Given the description of an element on the screen output the (x, y) to click on. 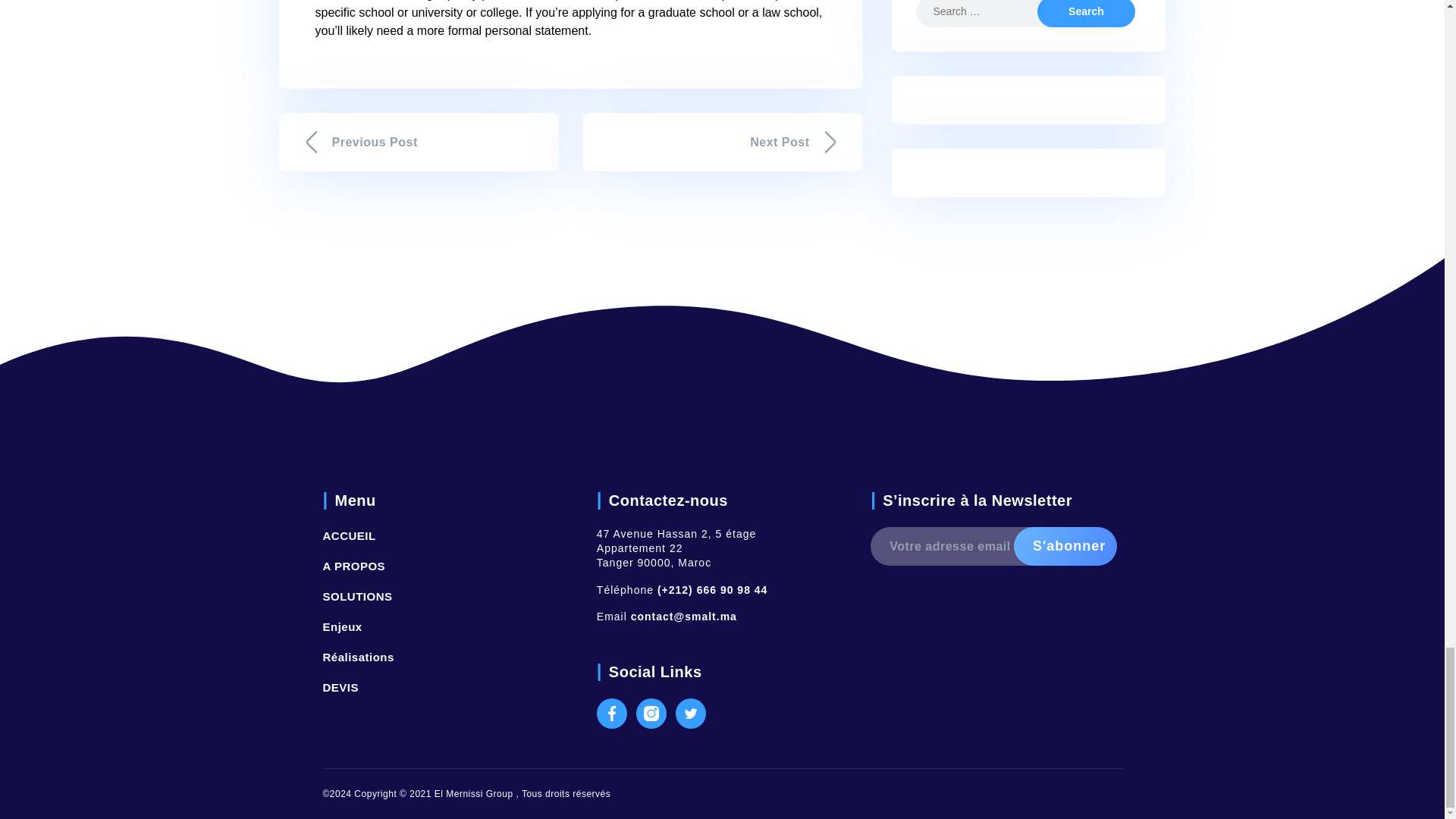
Search for: (988, 13)
S'abonner (1064, 546)
Previous Post (419, 142)
Search (1085, 13)
Search (1085, 13)
Next Post (721, 142)
